Given the description of an element on the screen output the (x, y) to click on. 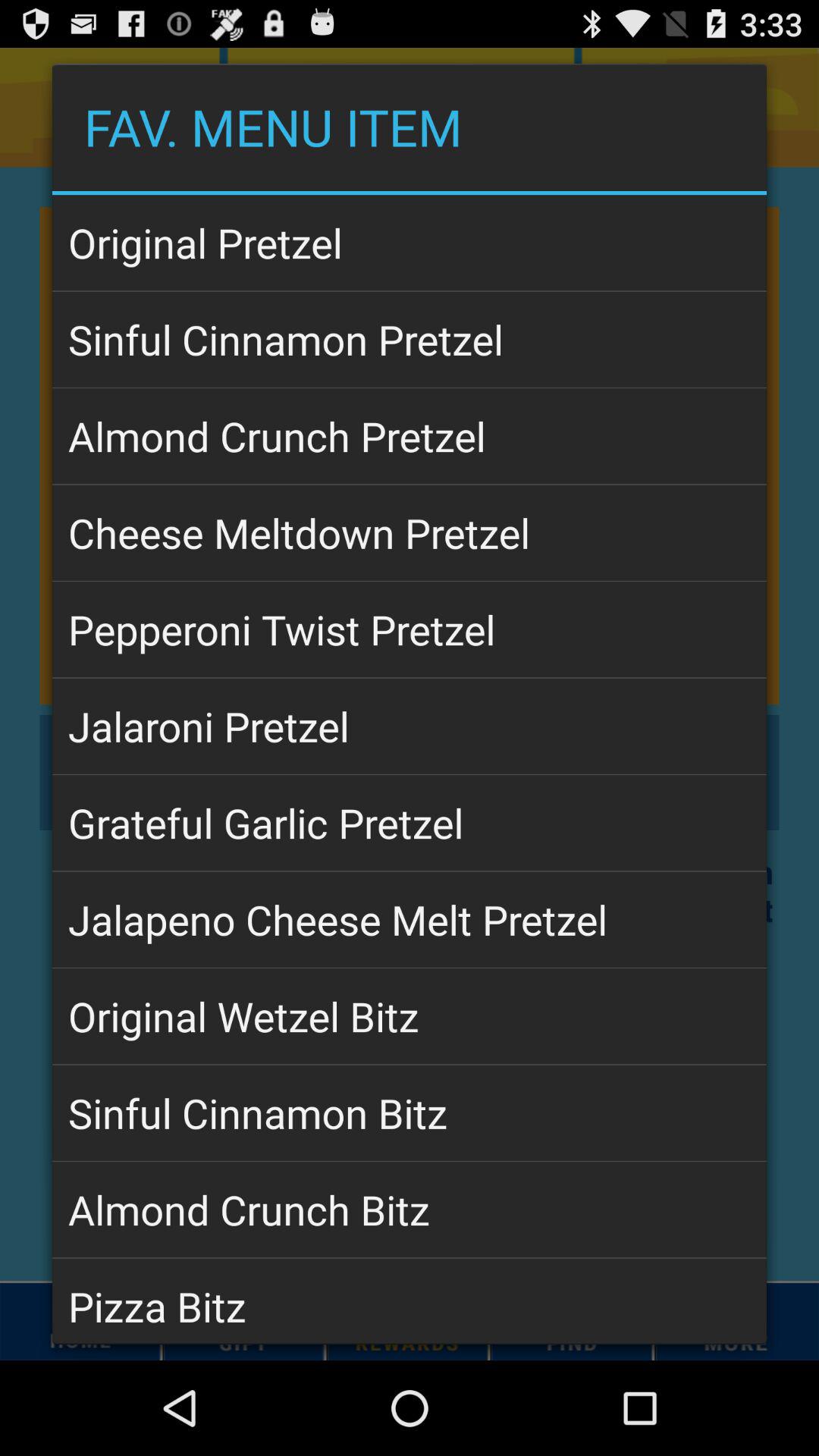
swipe to cheese meltdown pretzel item (409, 532)
